Given the description of an element on the screen output the (x, y) to click on. 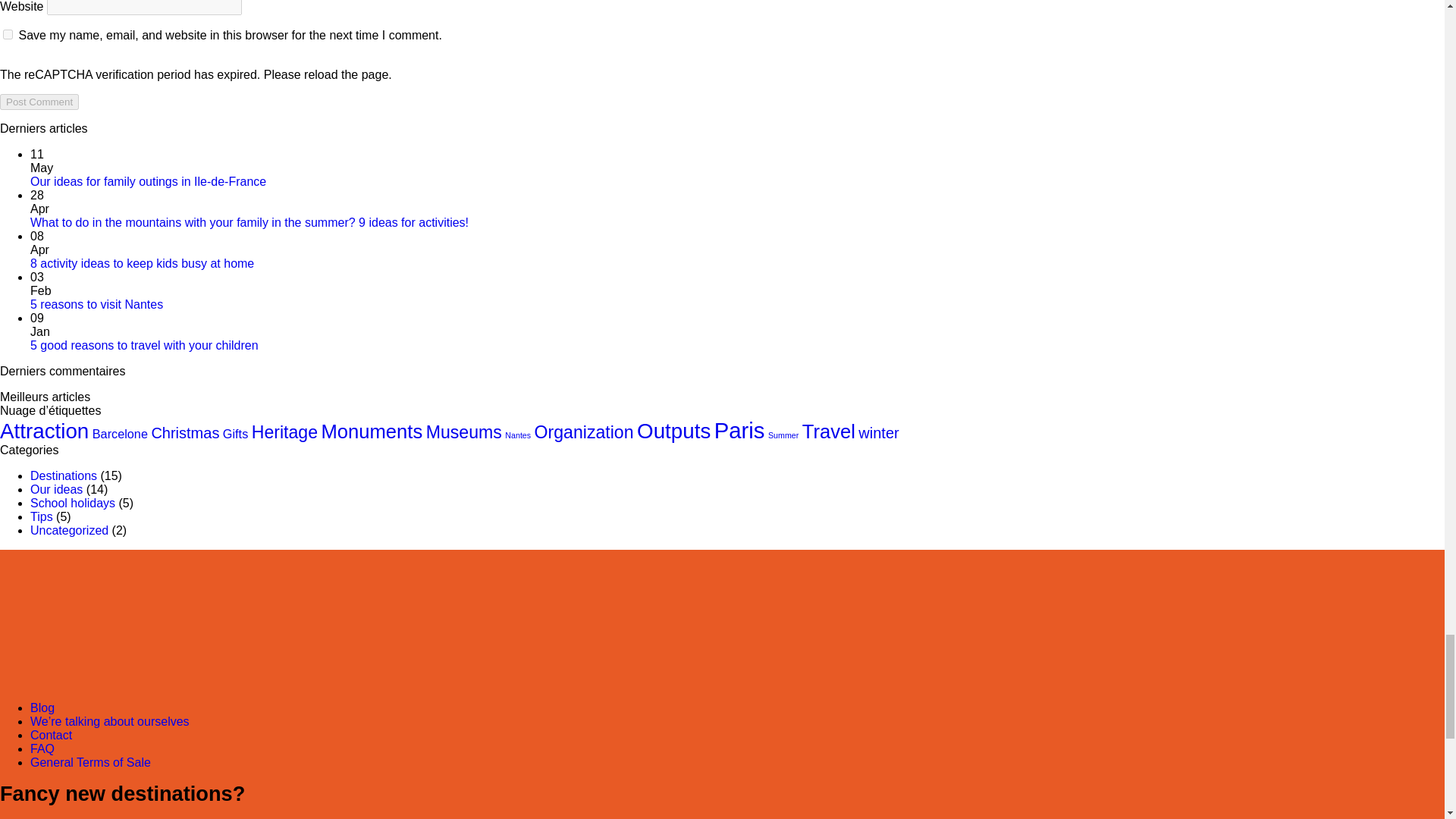
yes (7, 34)
5 reasons to visit Nantes (96, 304)
Our ideas for family outings in Ile-de-France (148, 181)
Post Comment (39, 101)
8 activity ideas to keep kids busy at home (141, 263)
